Given the description of an element on the screen output the (x, y) to click on. 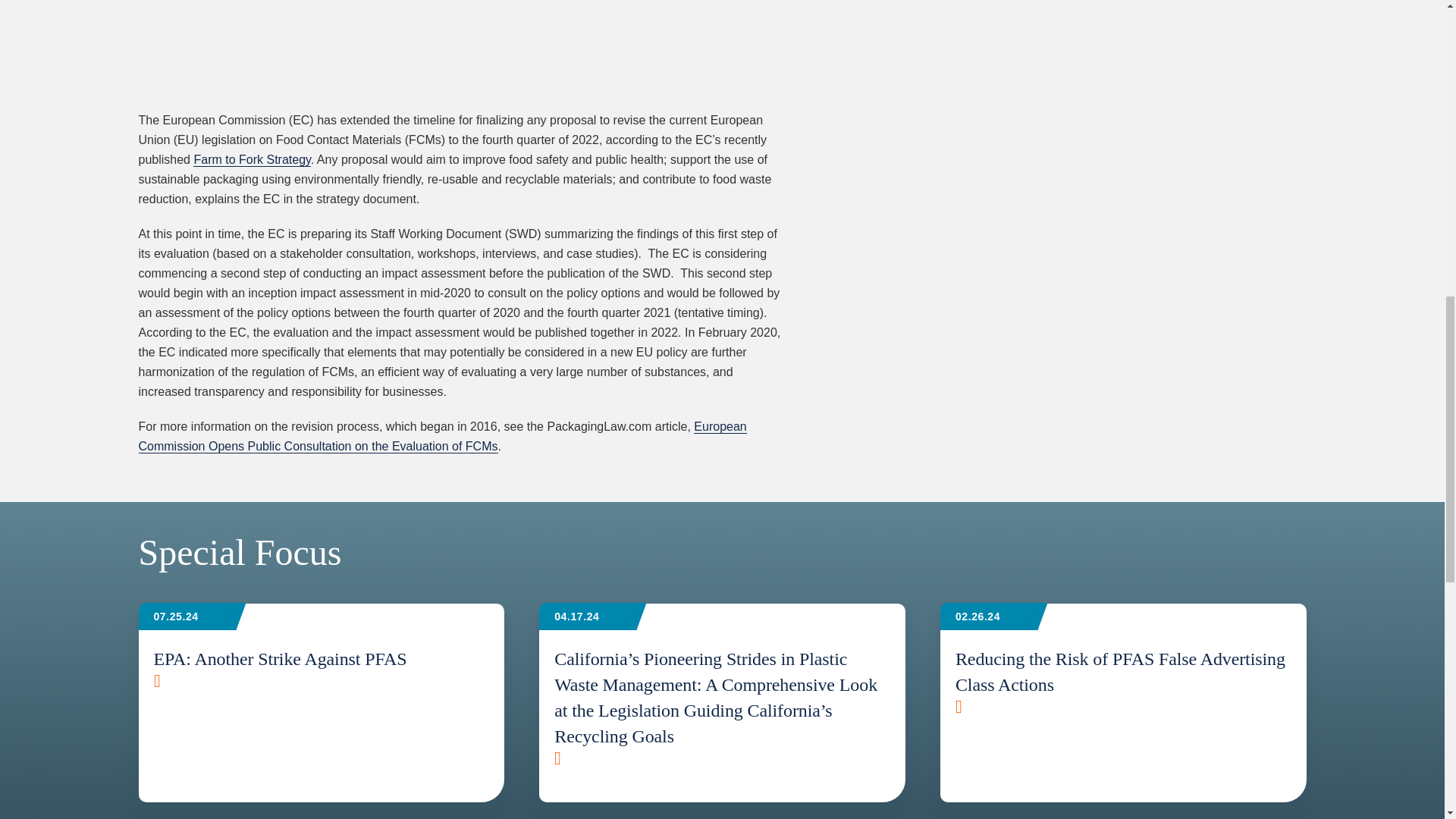
Reducing the Risk of PFAS False Advertising Class Actions (1123, 671)
Farm to Fork Strategy (251, 159)
EPA: Another Strike Against PFAS (320, 658)
